Given the description of an element on the screen output the (x, y) to click on. 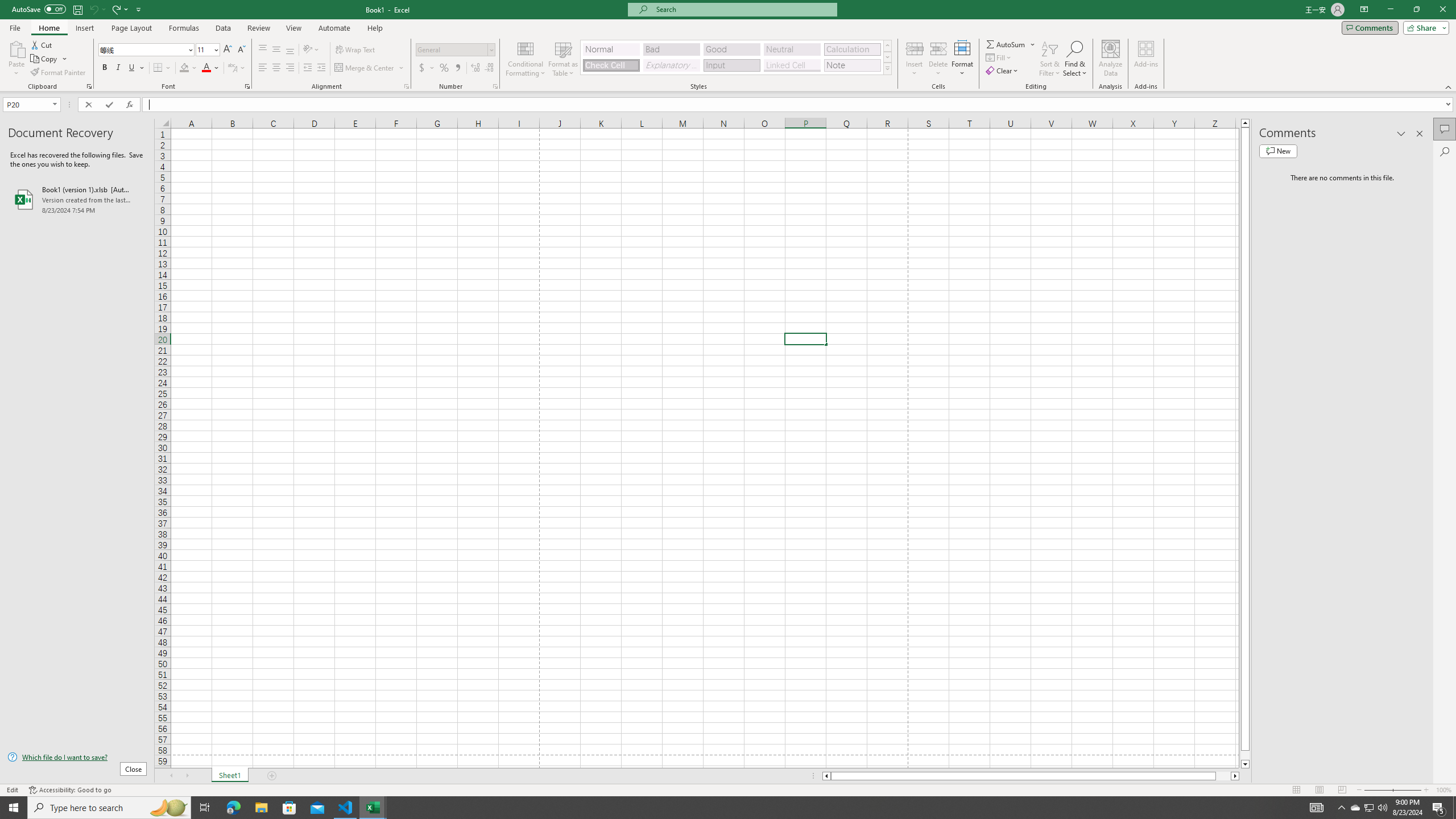
Font (142, 49)
Linked Cell (791, 65)
Show Phonetic Field (231, 67)
Show Phonetic Field (236, 67)
Increase Indent (320, 67)
Underline (131, 67)
Cut (42, 44)
Bad (671, 49)
Comma Style (457, 67)
Top Align (262, 49)
Note (852, 65)
